Given the description of an element on the screen output the (x, y) to click on. 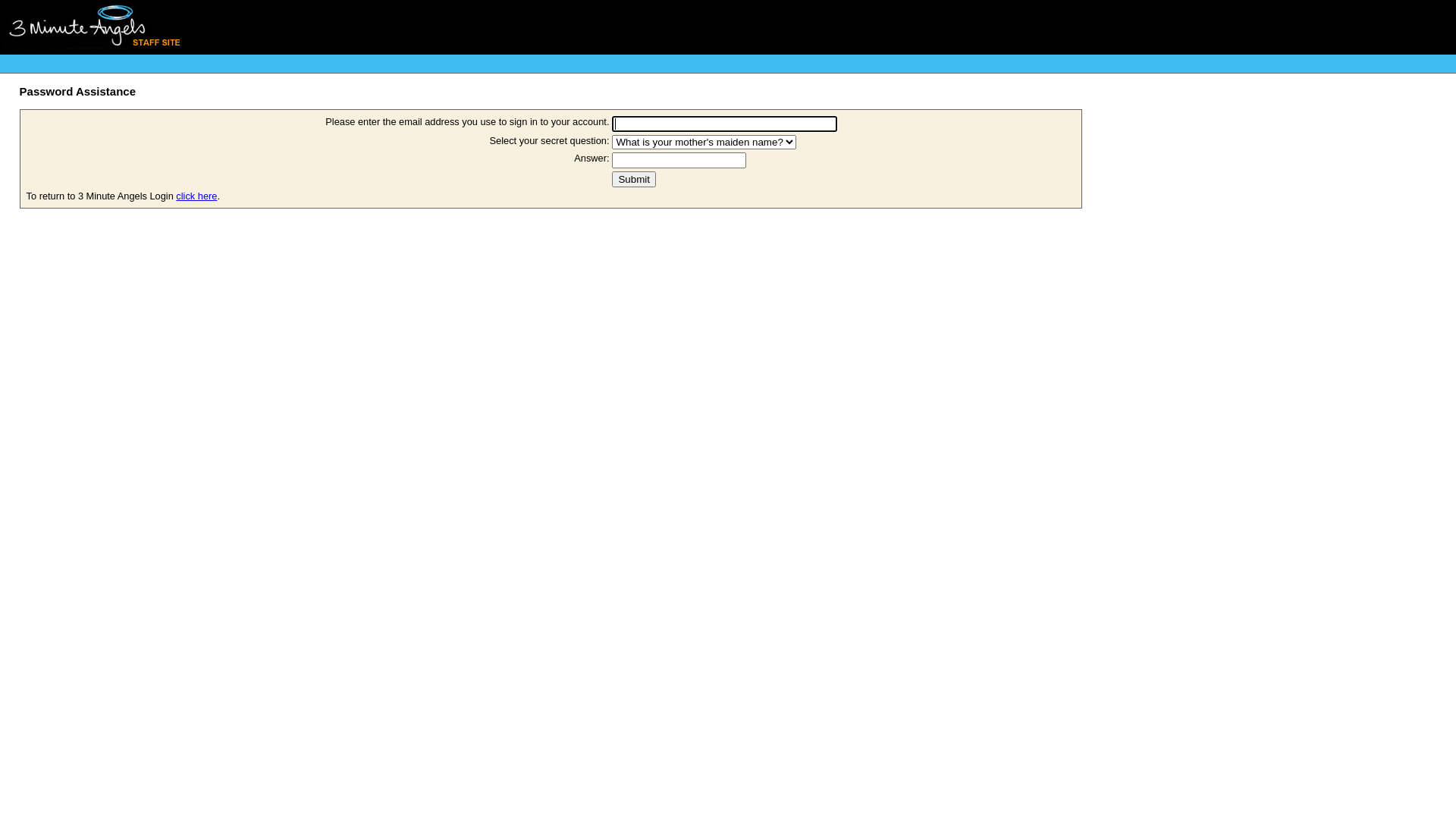
Submit Element type: text (633, 179)
click here Element type: text (195, 195)
